Given the description of an element on the screen output the (x, y) to click on. 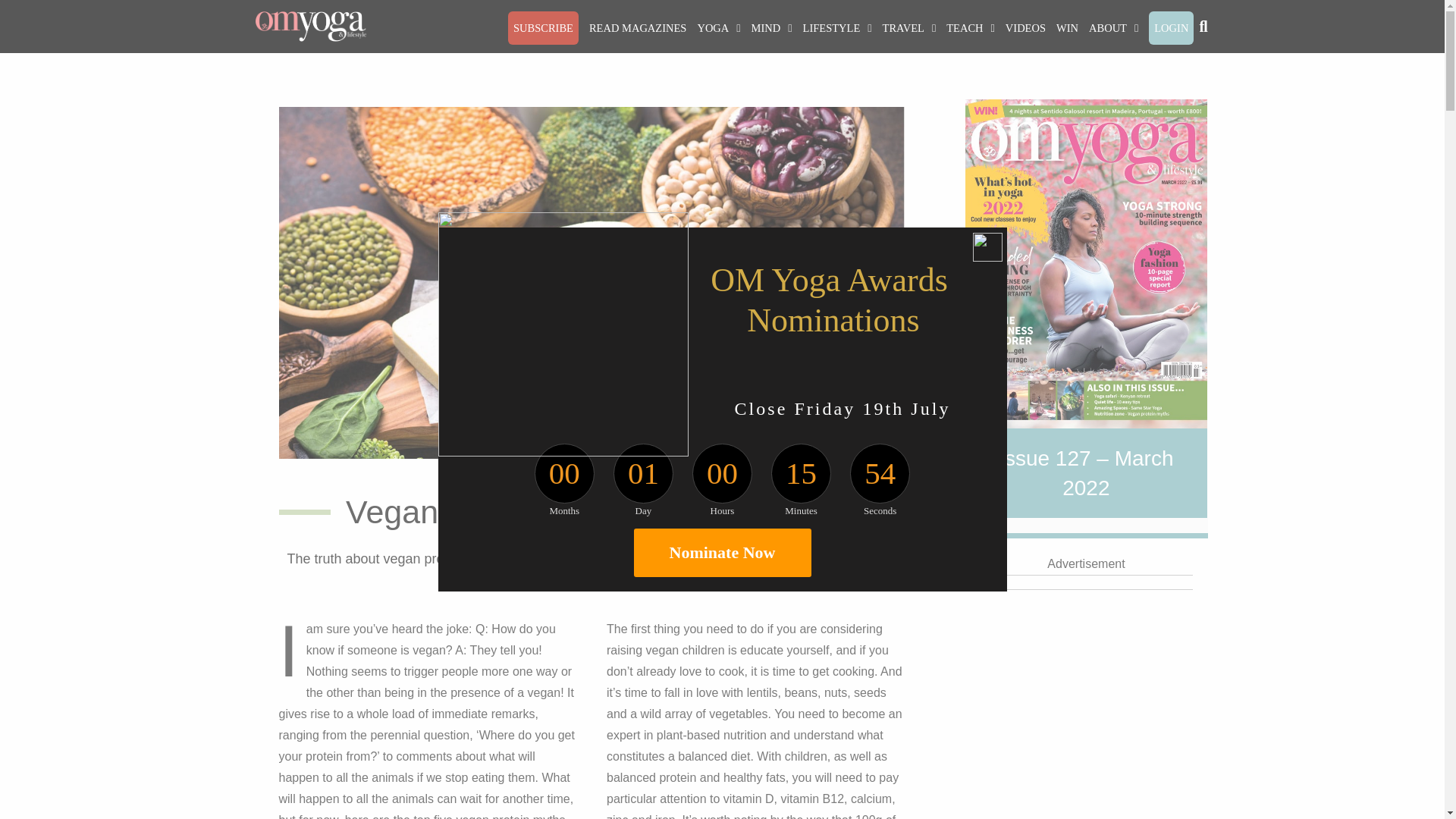
ABOUT (1112, 28)
YOGA (718, 28)
LIFESTYLE (837, 28)
WIN (1067, 28)
VIDEOS (1025, 28)
SUBSCRIBE (543, 28)
MIND (771, 28)
LOGIN (1170, 28)
TRAVEL (909, 28)
READ MAGAZINES (637, 28)
TEACH (970, 28)
